Given the description of an element on the screen output the (x, y) to click on. 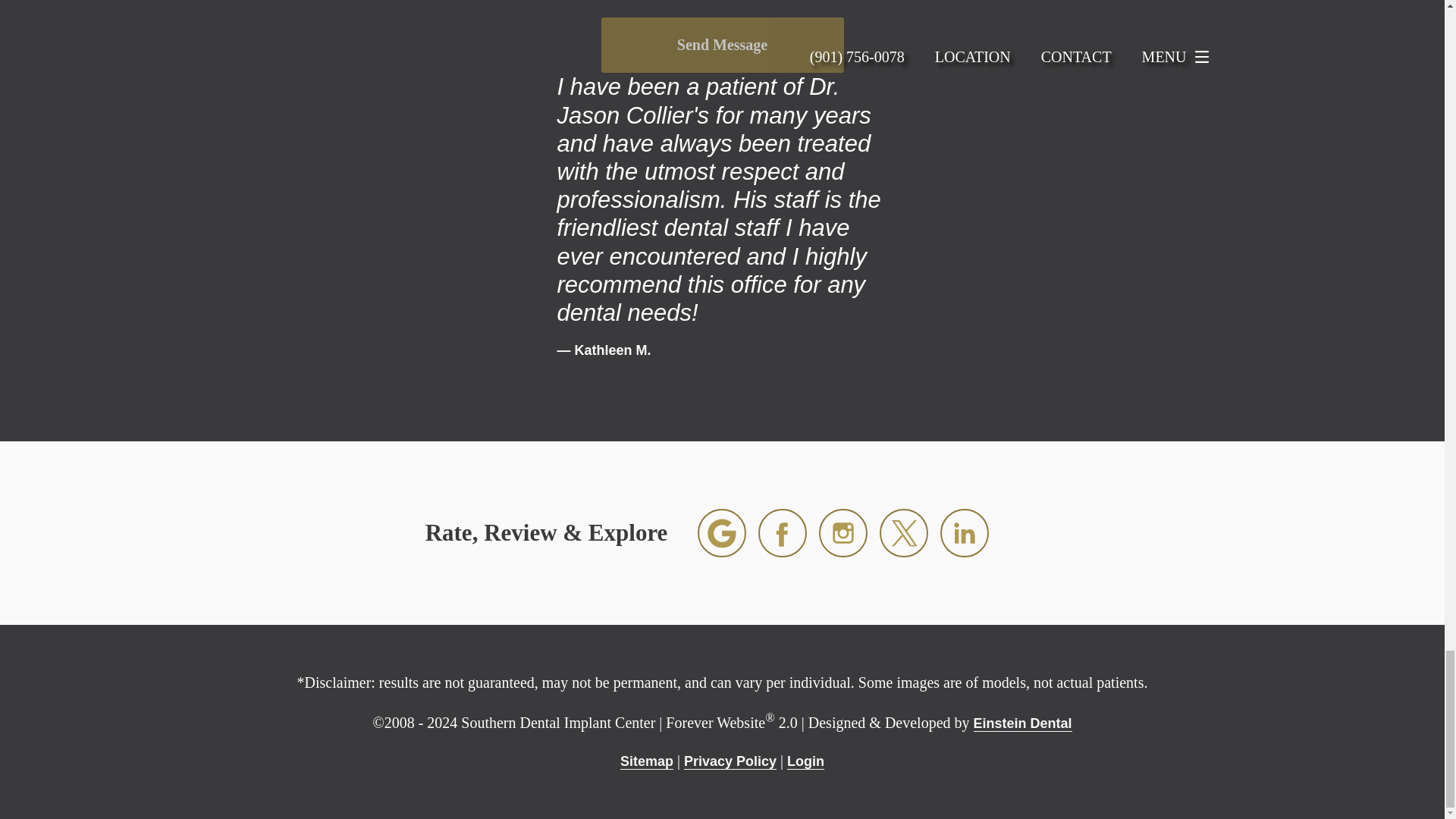
Sitemap (646, 761)
Privacy Policy (730, 761)
Send Message (721, 45)
Login (805, 761)
Twitter (903, 532)
LinkedIn (964, 532)
Facebook (782, 532)
Instagram (842, 532)
Google (721, 532)
Einstein Dental (1022, 723)
